Given the description of an element on the screen output the (x, y) to click on. 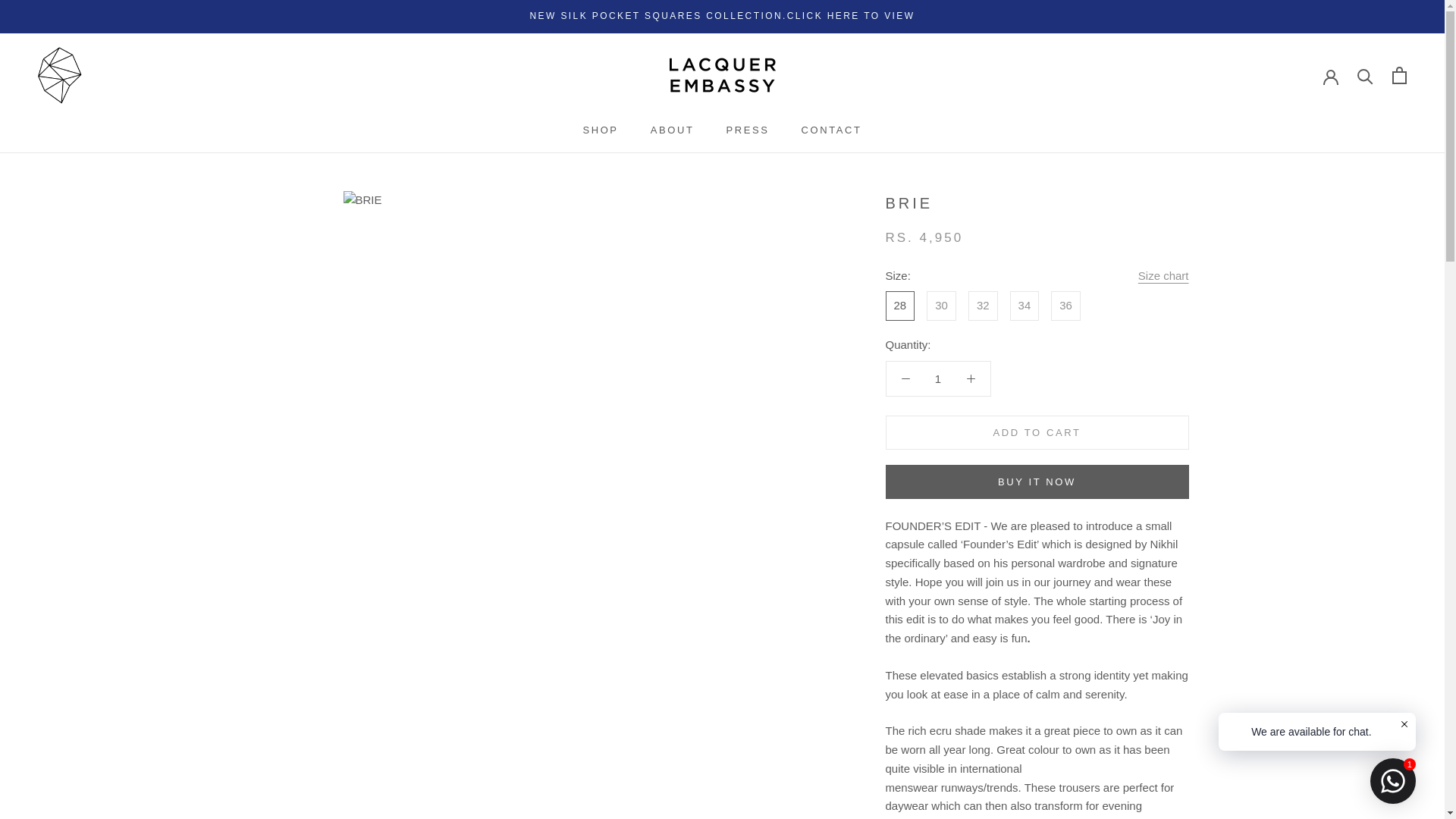
SHOP (599, 129)
1 (938, 378)
NEW SILK POCKET SQUARES COLLECTION.CLICK HERE TO VIEW (722, 15)
